Given the description of an element on the screen output the (x, y) to click on. 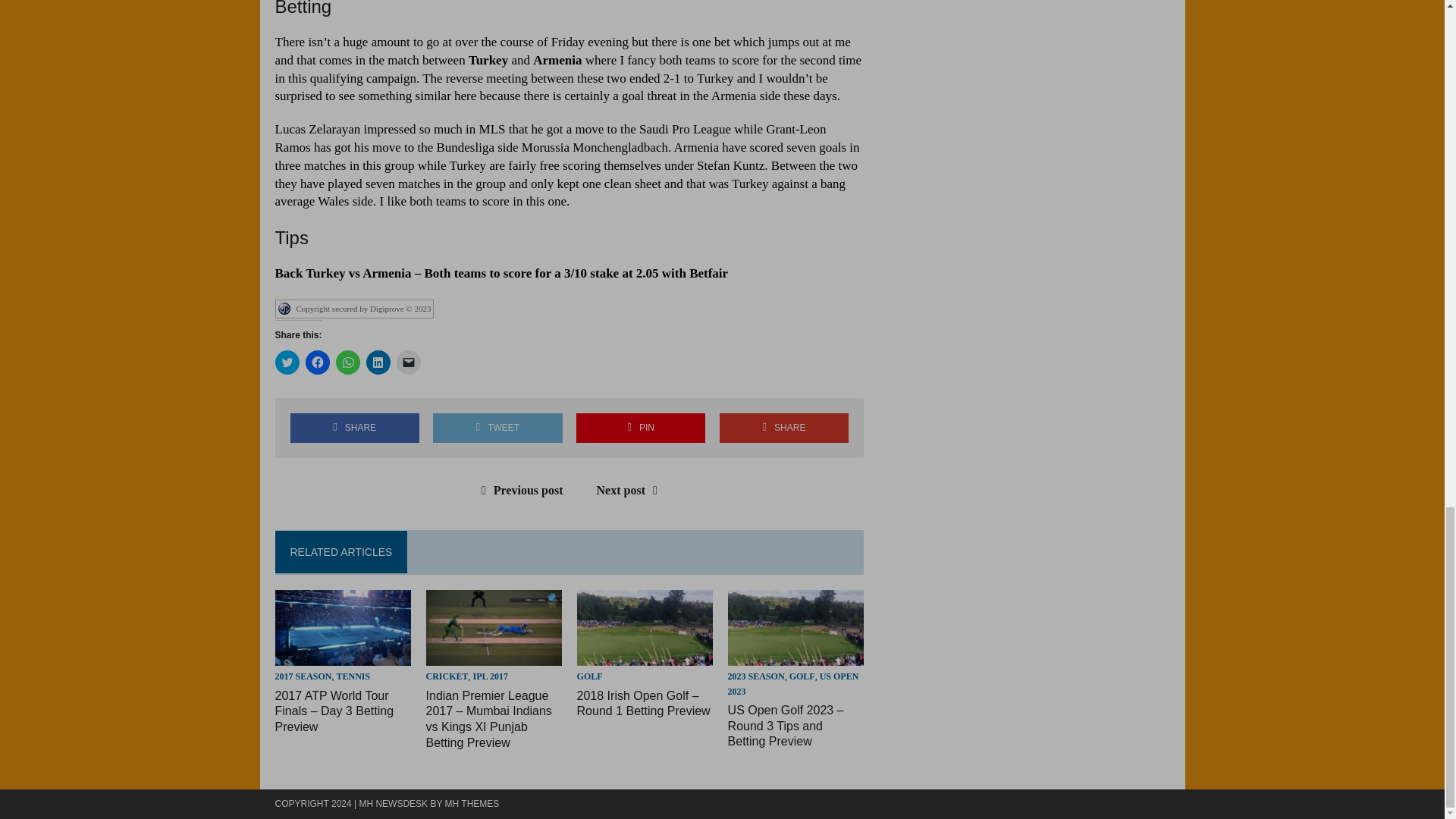
Click to email a link to a friend (408, 362)
Share on Facebook (354, 428)
Click to share on LinkedIn (377, 362)
Tweet This Post (497, 428)
Click to share on WhatsApp (346, 362)
Click to share on Twitter (286, 362)
Click to share on Facebook (316, 362)
